Given the description of an element on the screen output the (x, y) to click on. 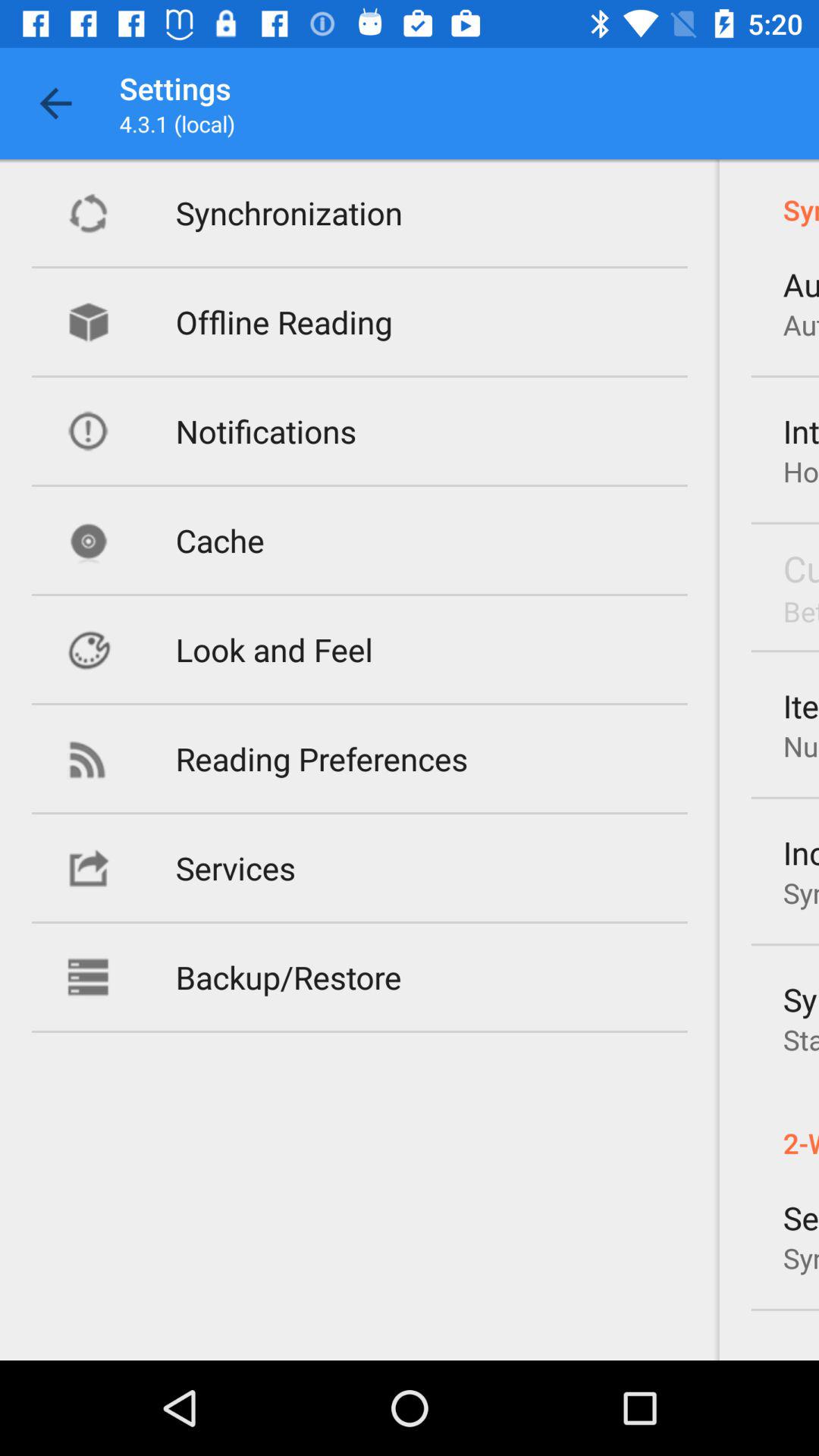
launch custom interval item (801, 568)
